Given the description of an element on the screen output the (x, y) to click on. 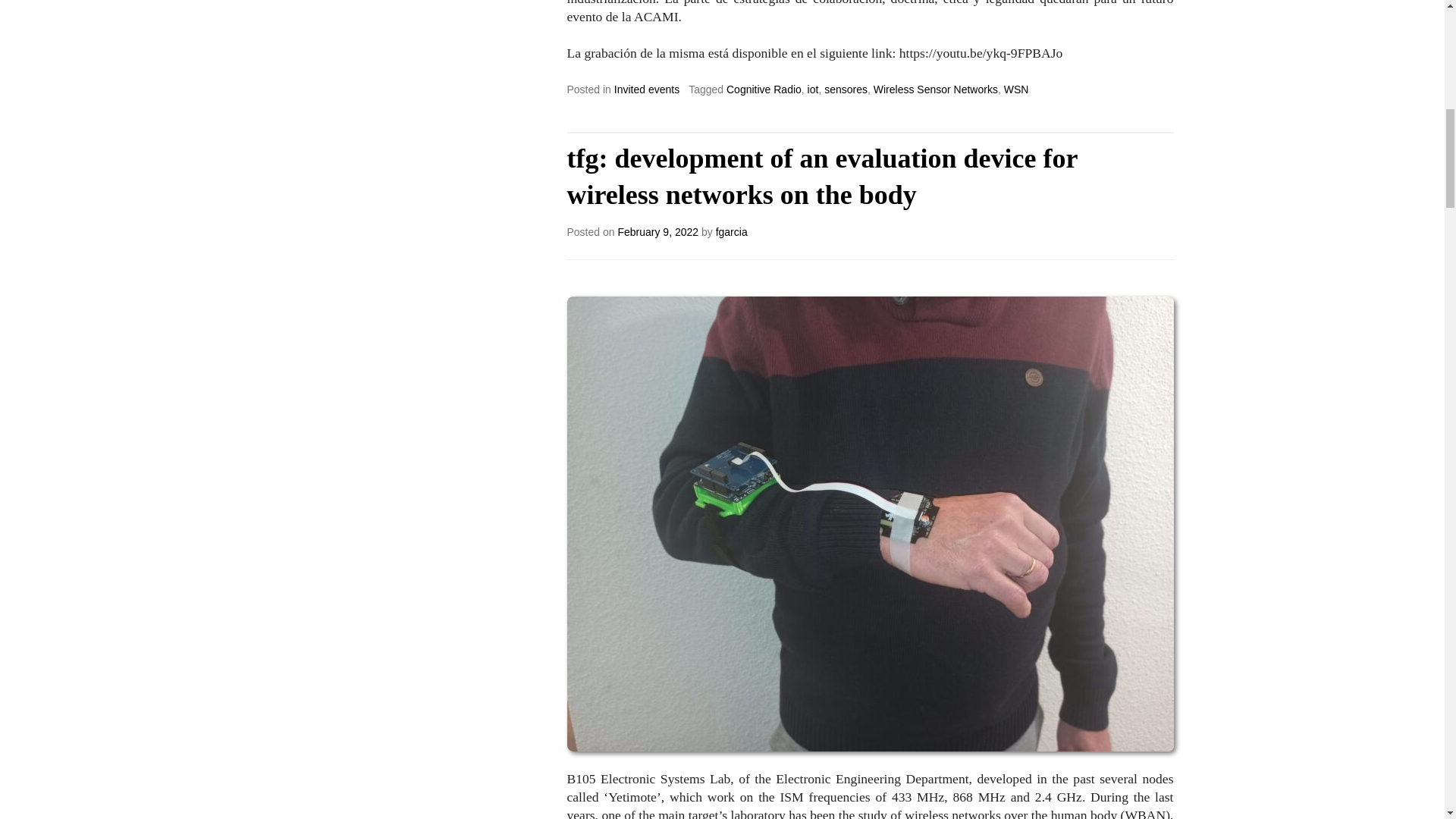
iot (813, 89)
Invited events (646, 89)
Cognitive Radio (764, 89)
sensores (845, 89)
